Given the description of an element on the screen output the (x, y) to click on. 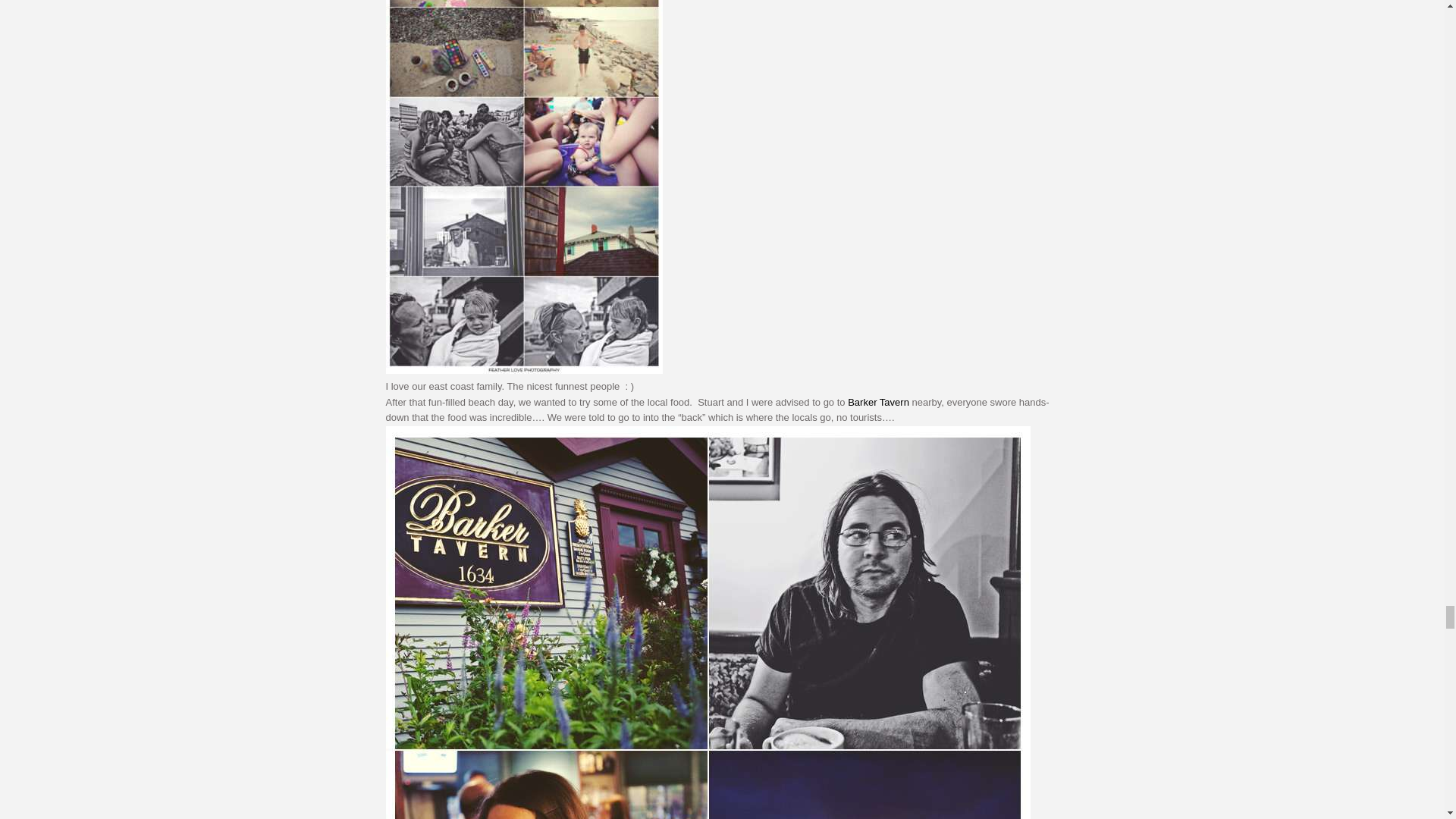
Barker Tavern (877, 401)
